Given the description of an element on the screen output the (x, y) to click on. 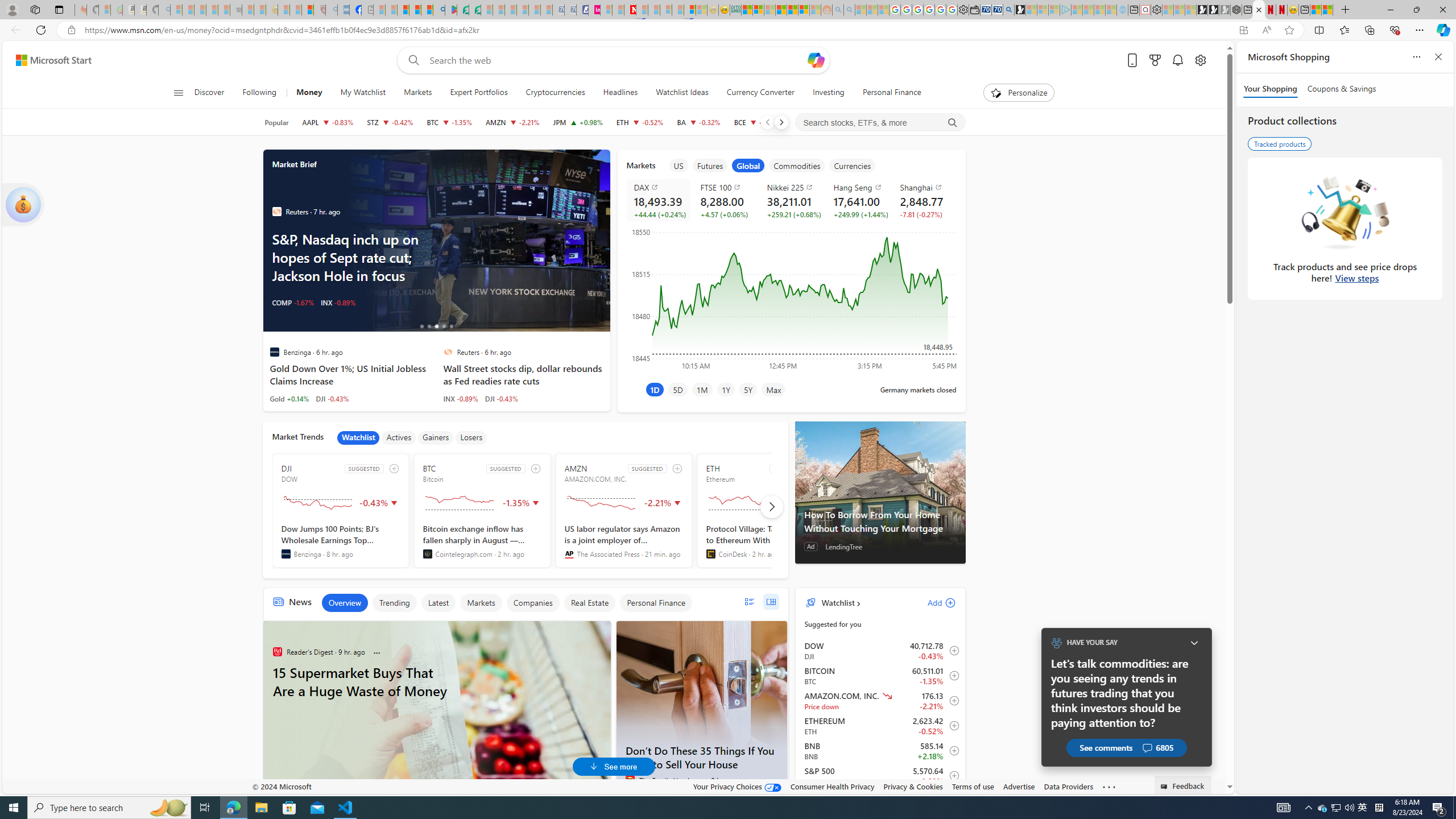
Investing (828, 92)
Microsoft Start - Sleeping (1099, 9)
item5 (852, 164)
Shanghai (926, 187)
CoinDesk (710, 553)
Personal Finance (891, 92)
Privacy & Cookies (913, 785)
google - Search (438, 9)
How To Borrow From Your Home Without Touching Your Mortgage (879, 492)
Watchlist (837, 602)
Open navigation menu (177, 92)
Cryptocurrencies (555, 92)
